Given the description of an element on the screen output the (x, y) to click on. 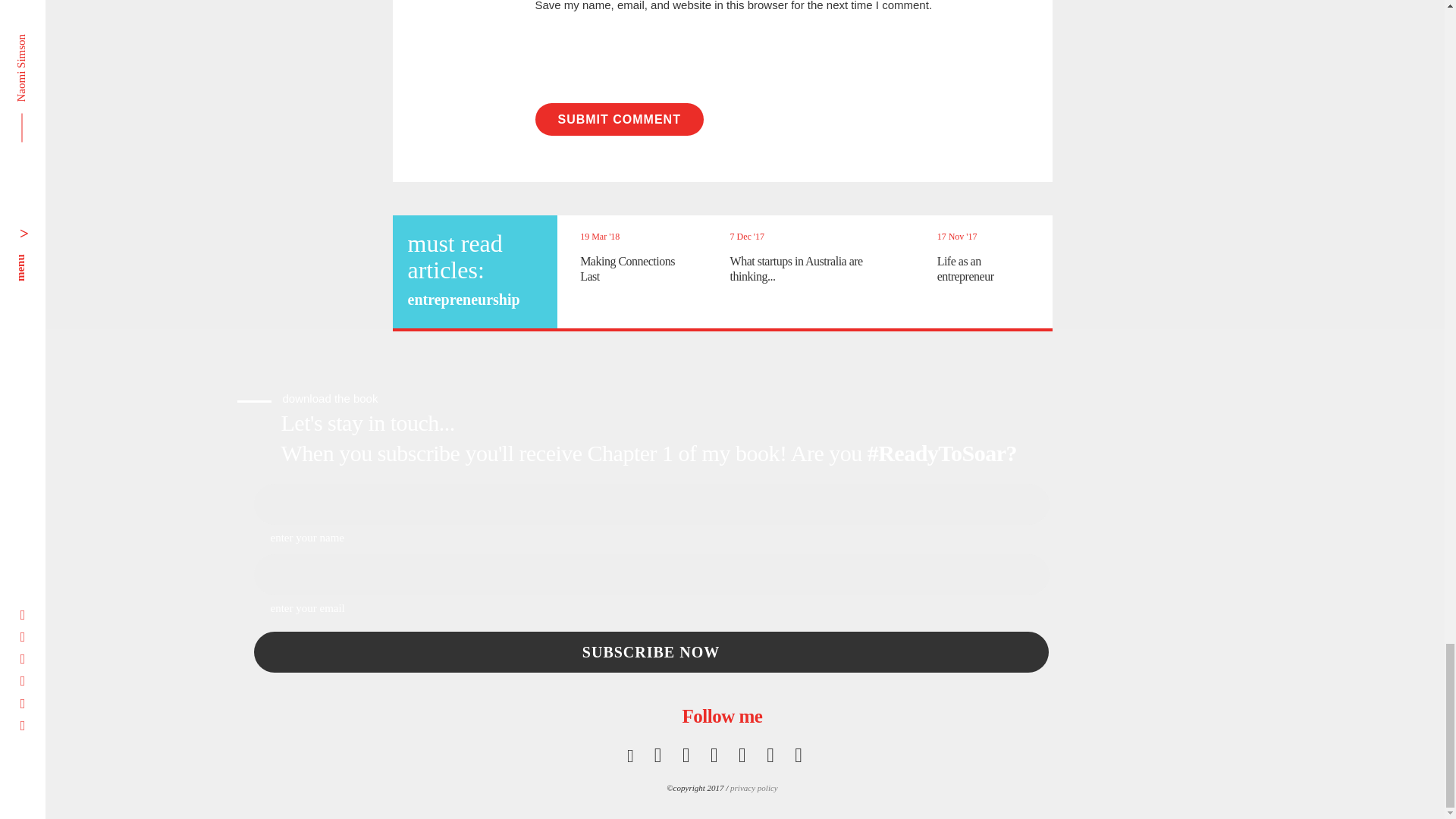
Subscribe Now (650, 652)
Submit Comment (619, 119)
